Given the description of an element on the screen output the (x, y) to click on. 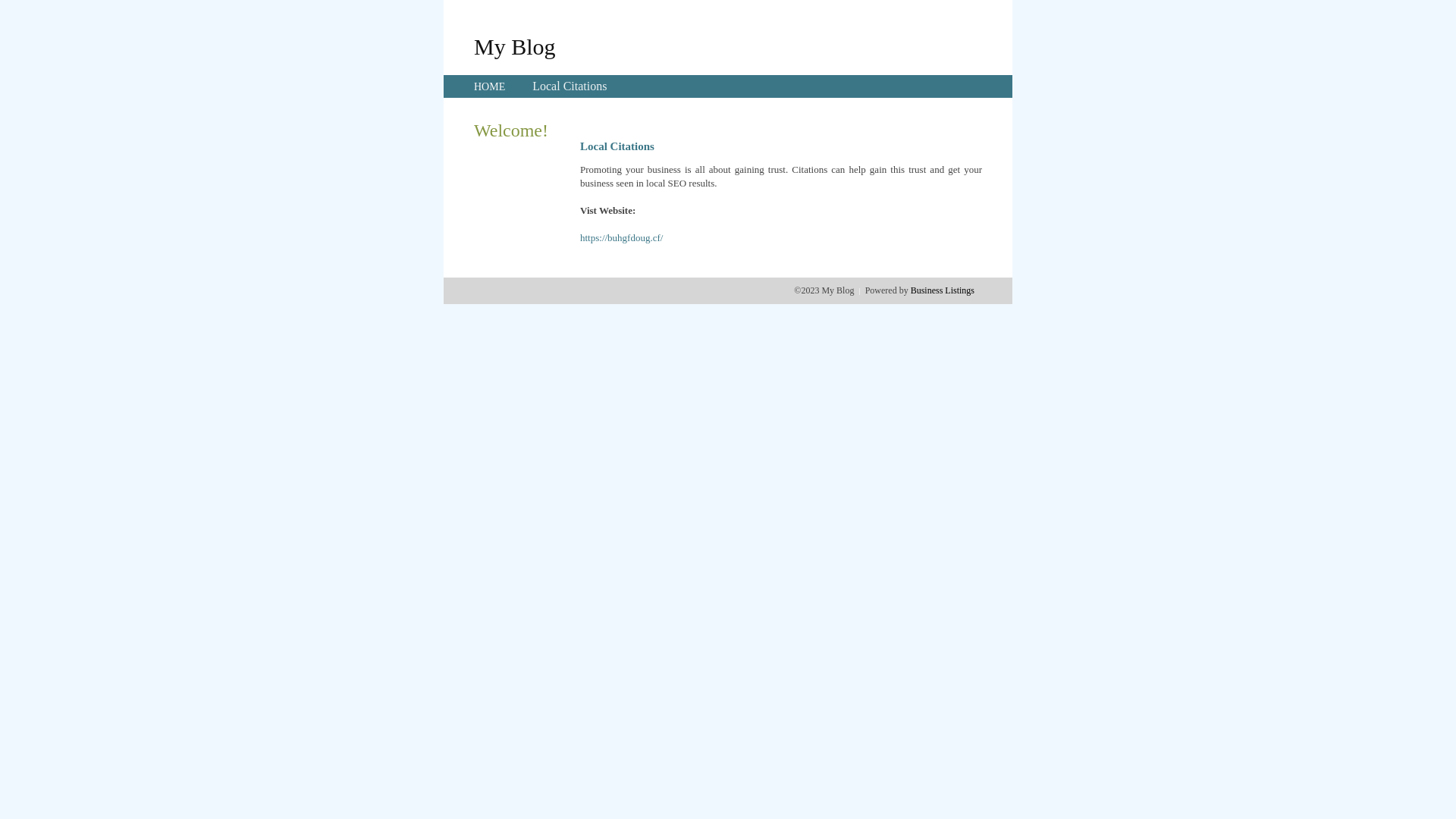
Local Citations Element type: text (569, 85)
My Blog Element type: text (514, 46)
Business Listings Element type: text (942, 290)
https://buhgfdoug.cf/ Element type: text (621, 237)
HOME Element type: text (489, 86)
